Given the description of an element on the screen output the (x, y) to click on. 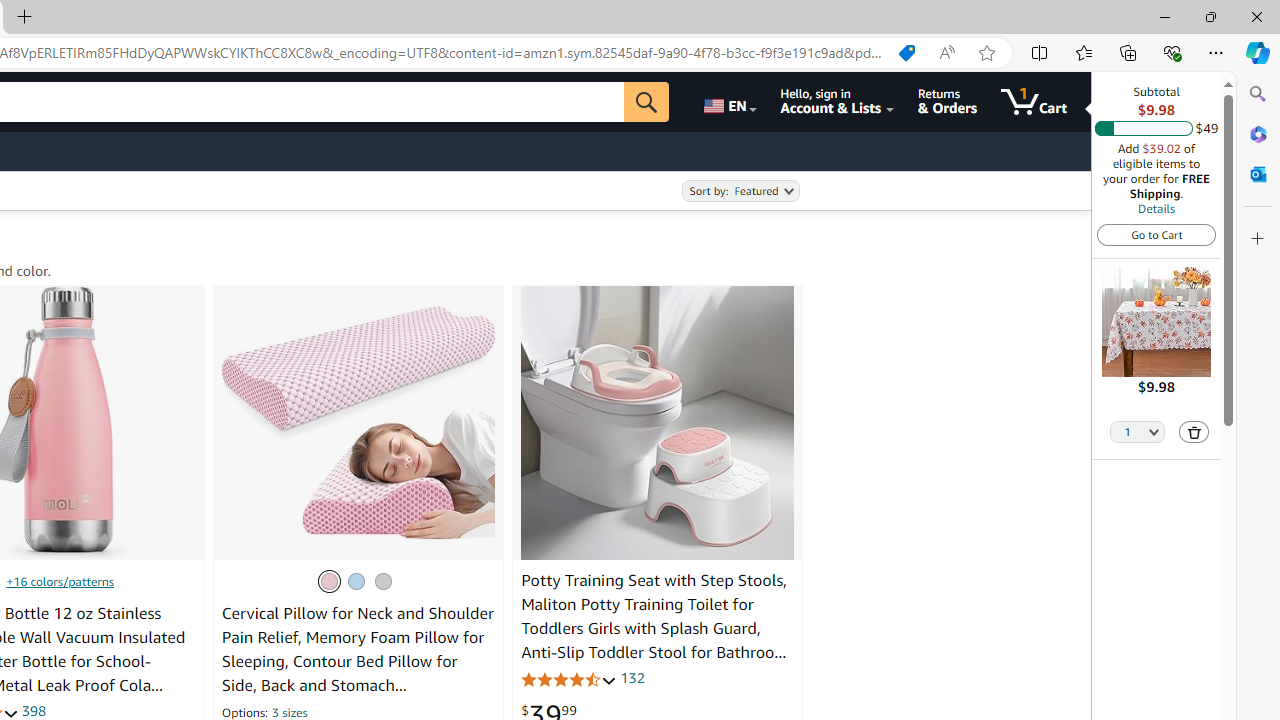
4.6 out of 5 stars (569, 678)
Go to Cart (1156, 234)
Shopping in Microsoft Edge (906, 53)
132 (632, 678)
Go (646, 101)
Details (1156, 208)
Hello, sign in Account & Lists (836, 101)
Blue (355, 580)
